Given the description of an element on the screen output the (x, y) to click on. 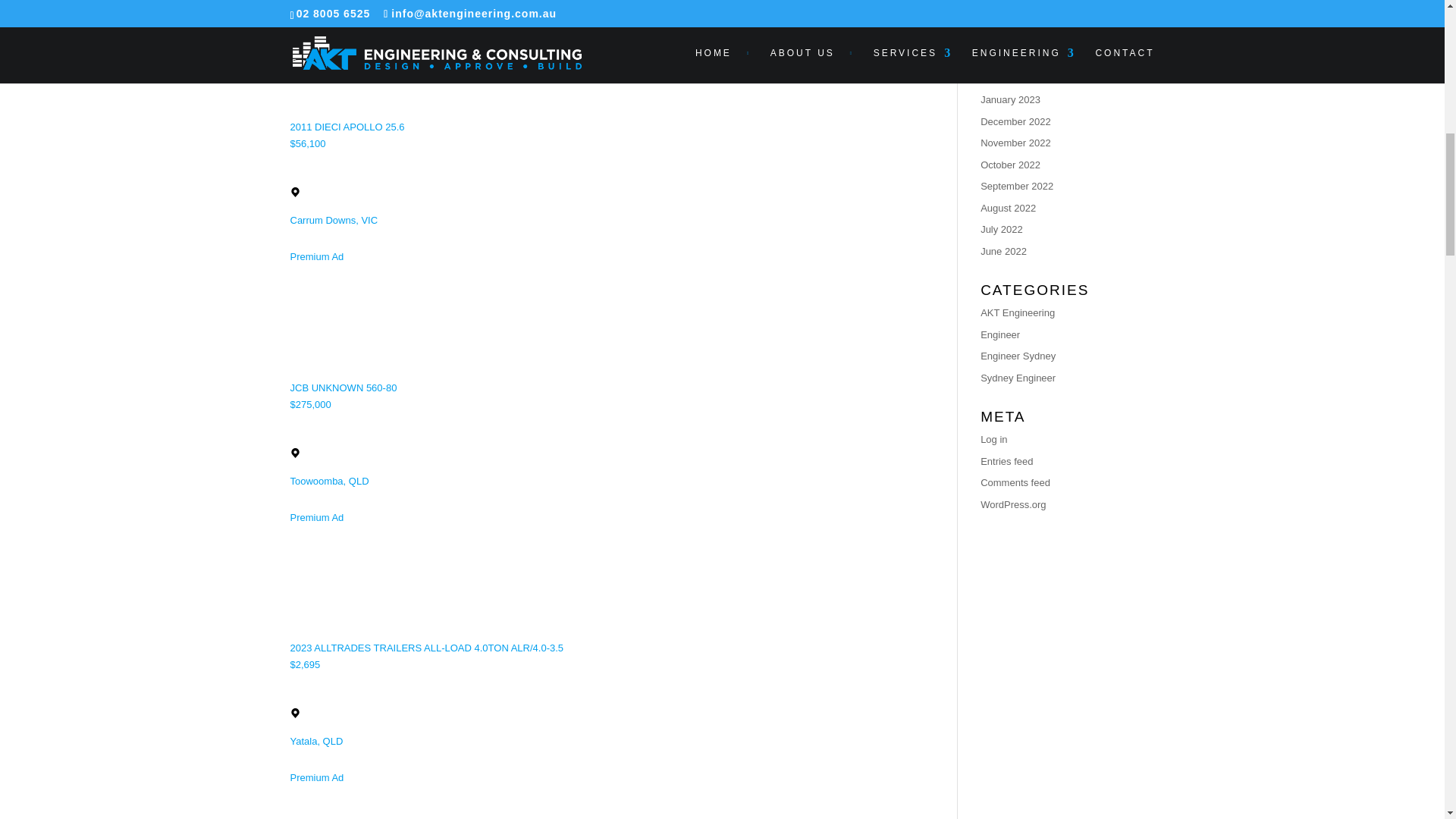
Location marker The shape of a location marker (294, 713)
Location marker The shape of a location marker (294, 452)
Location marker The shape of a location marker (294, 192)
